Given the description of an element on the screen output the (x, y) to click on. 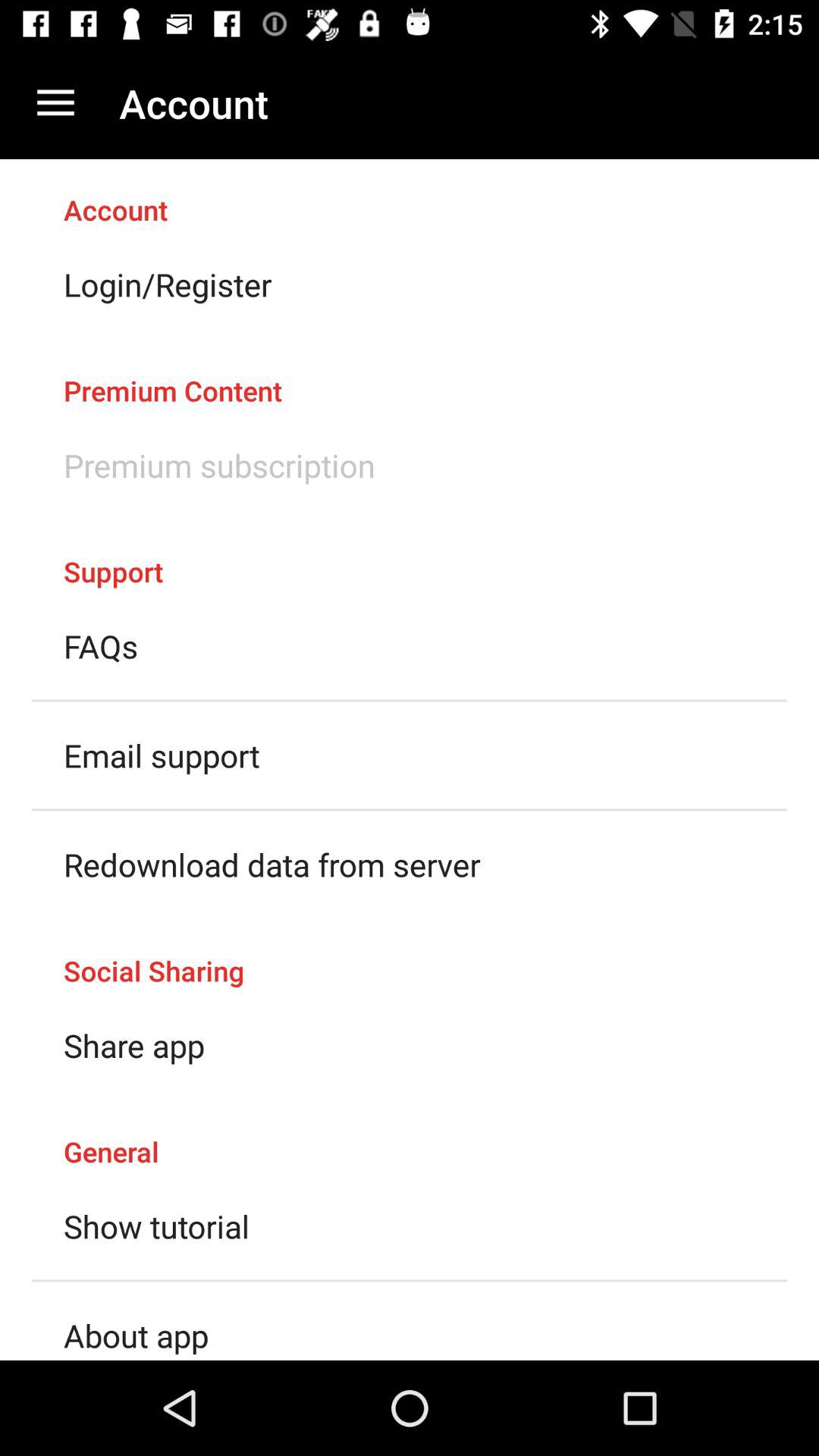
scroll to login/register item (167, 283)
